Given the description of an element on the screen output the (x, y) to click on. 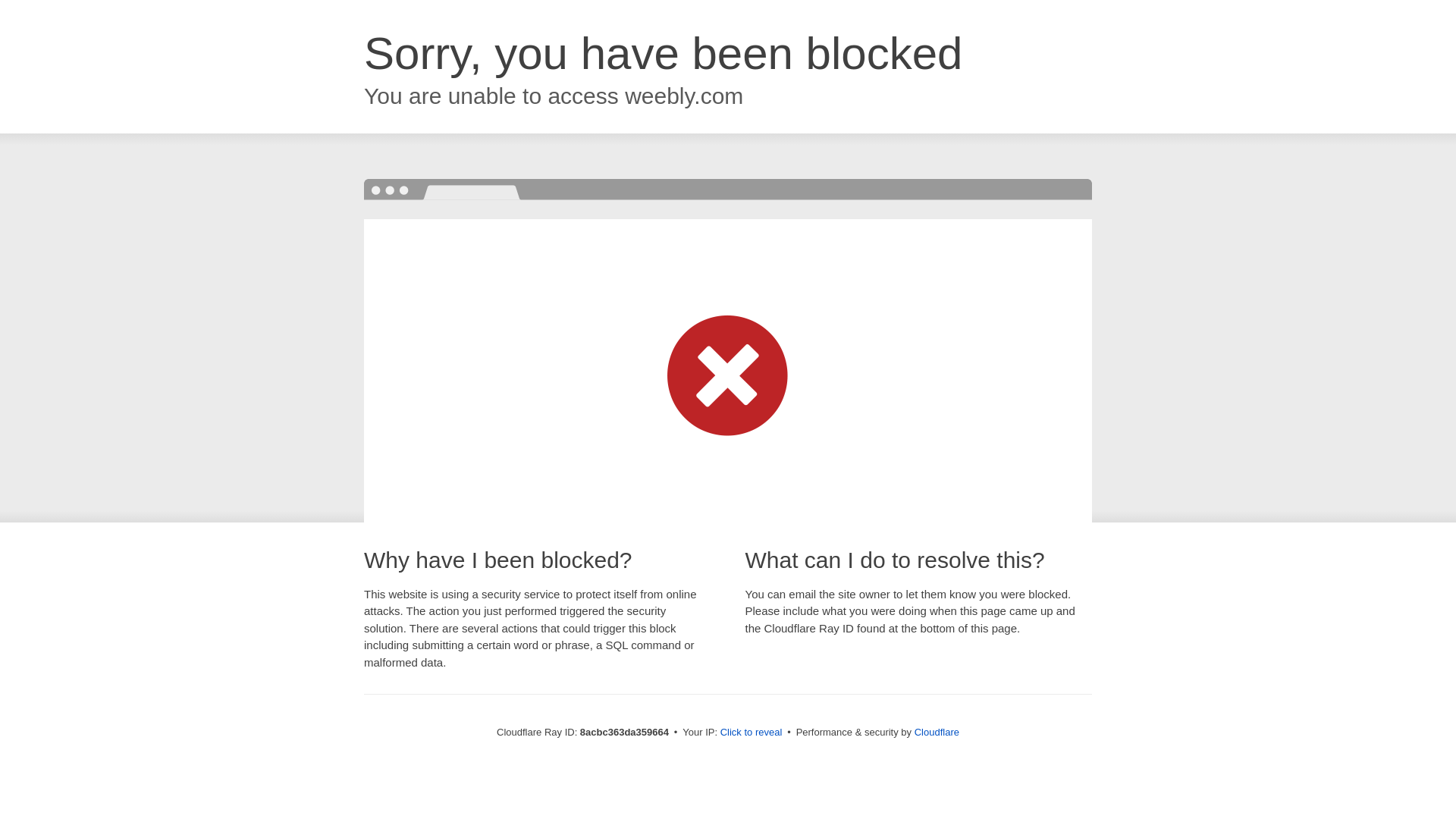
Click to reveal (751, 732)
Cloudflare (936, 731)
